Given the description of an element on the screen output the (x, y) to click on. 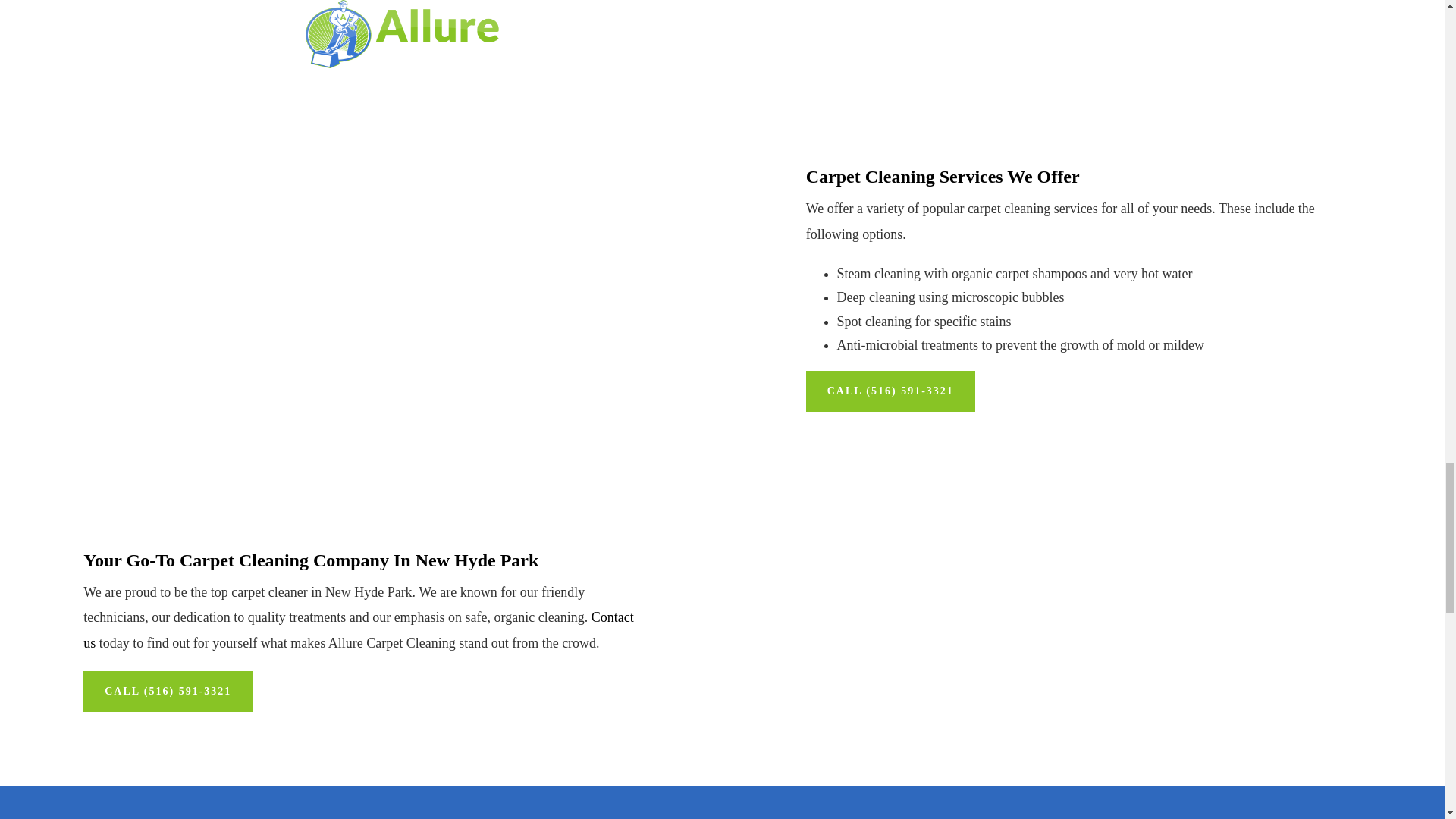
Contact us (357, 629)
